Given the description of an element on the screen output the (x, y) to click on. 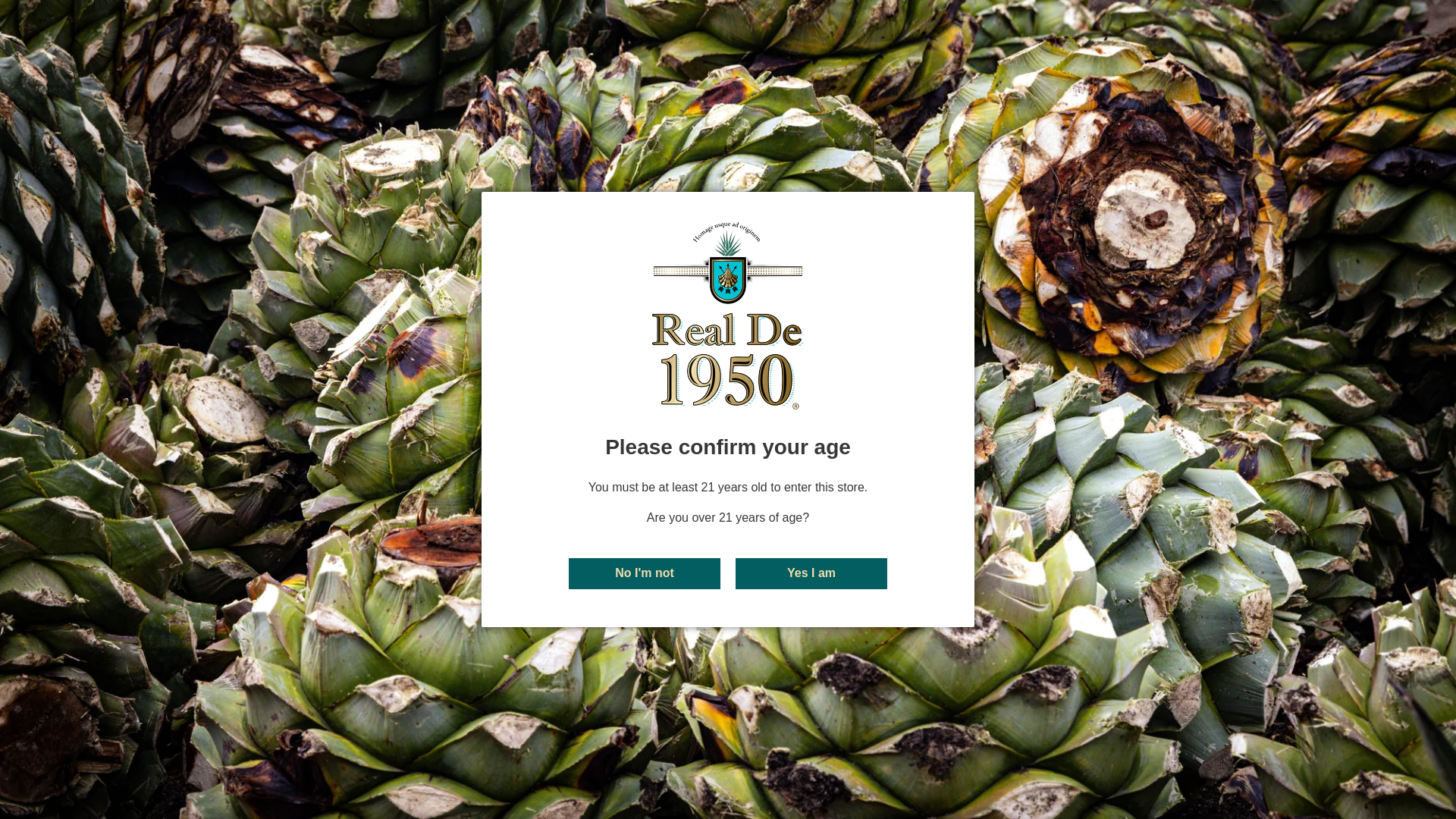
Meta Pay (682, 736)
Mastercard (772, 736)
Discover (638, 736)
Venmo (907, 736)
Visa (953, 736)
Diners Club (592, 736)
American Express (501, 736)
Shop Pay (863, 736)
Apple Pay (548, 736)
PayPal (817, 736)
Google Pay (727, 736)
